Given the description of an element on the screen output the (x, y) to click on. 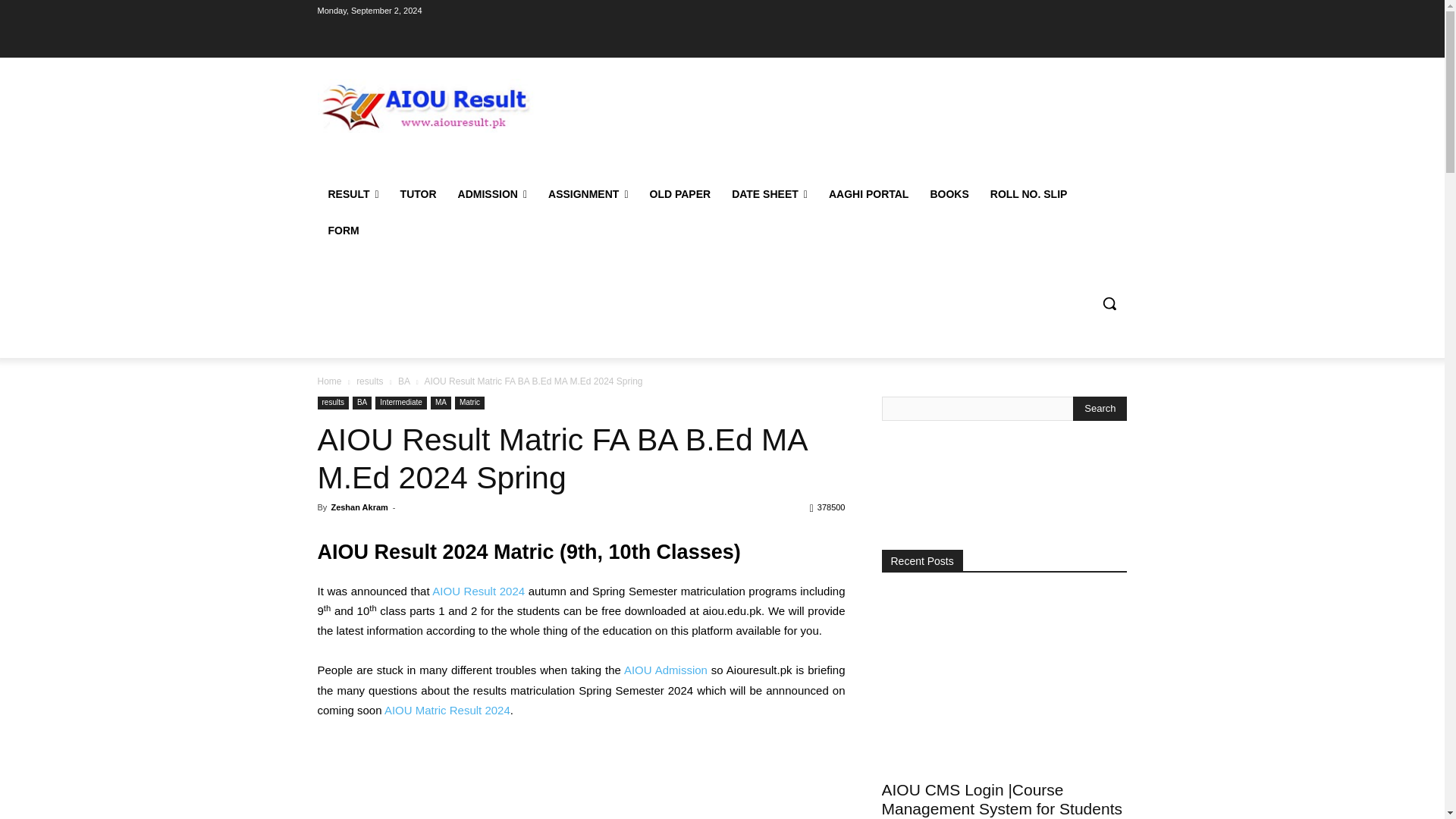
AIOU Result .pk (425, 105)
RESULT (352, 194)
ASSIGNMENT (588, 194)
OLD PAPER (679, 194)
DATE SHEET (769, 194)
View all posts in BA (403, 380)
BOOKS (948, 194)
View all posts in results (369, 380)
ADMISSION (491, 194)
Search (1099, 408)
